Given the description of an element on the screen output the (x, y) to click on. 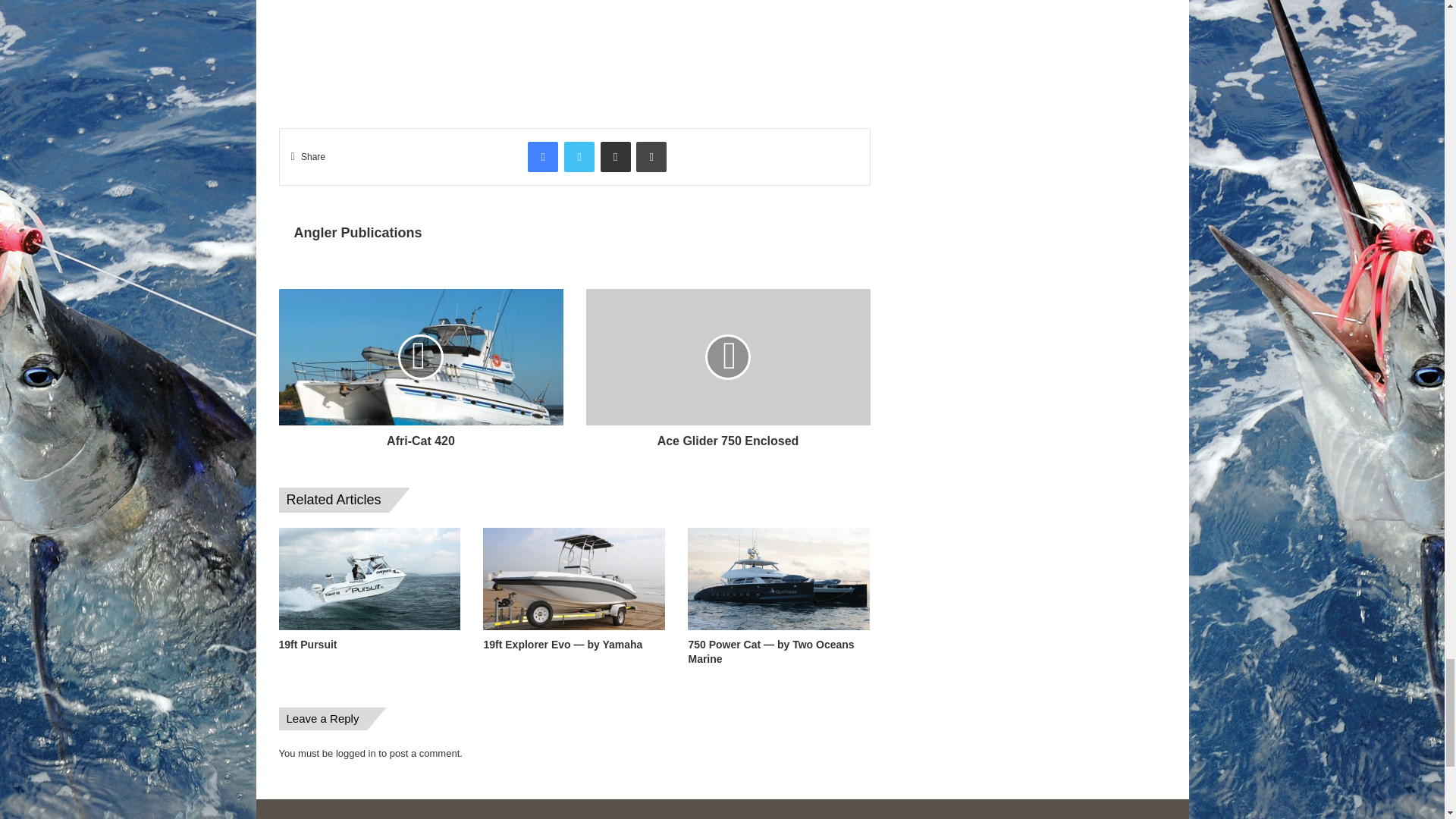
Print (651, 156)
19ft Pursuit (308, 644)
Ace Glider 750 Enclosed (727, 437)
Afri-Cat 420 (421, 437)
Twitter (579, 156)
Print (651, 156)
Twitter (579, 156)
Angler Publications (358, 232)
Facebook (542, 156)
Share via Email (614, 156)
